Given the description of an element on the screen output the (x, y) to click on. 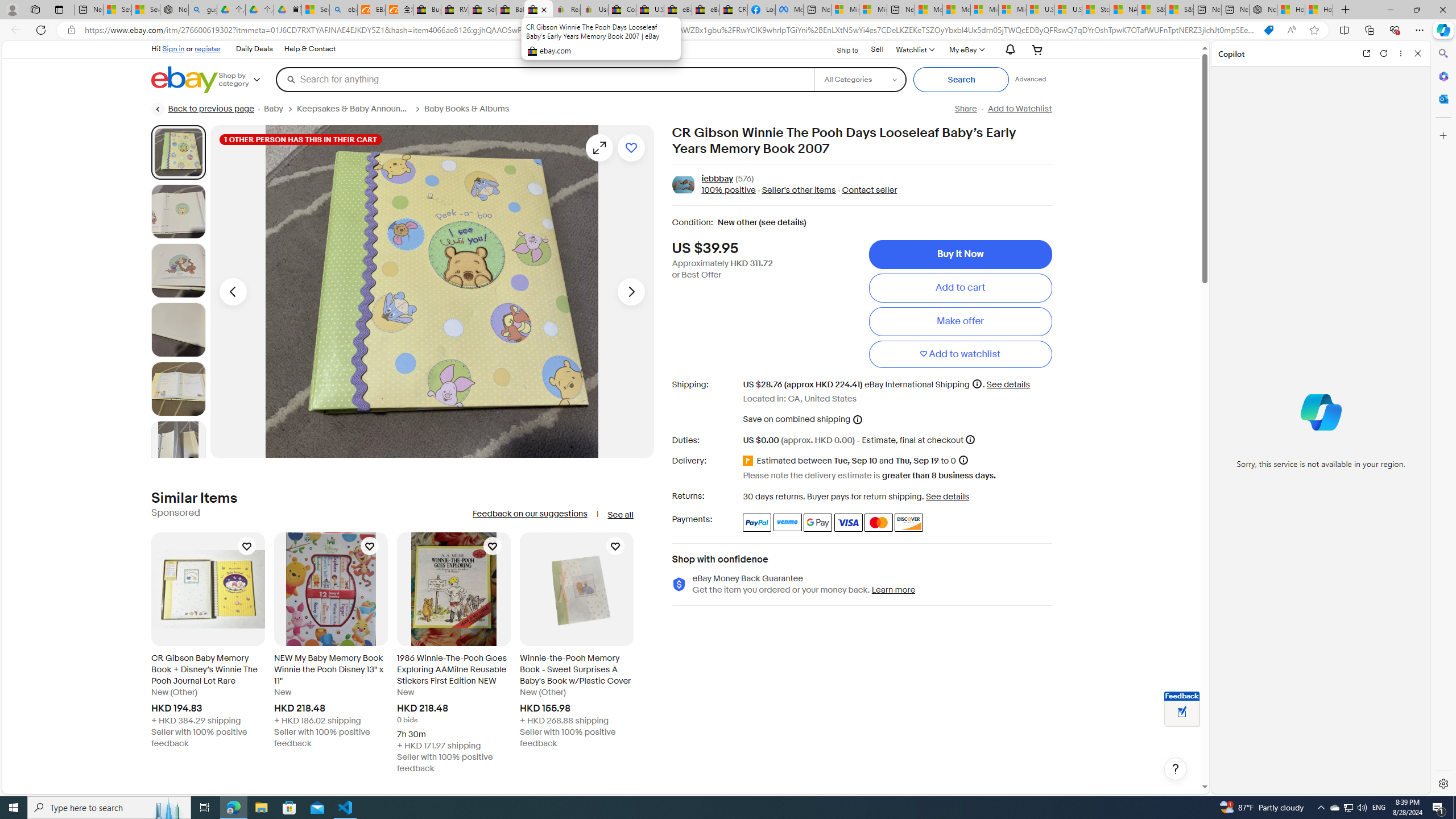
Picture 2 of 22 (178, 211)
Add to watchlist (631, 147)
Make offer (959, 320)
See all (620, 514)
Baby (273, 108)
My eBay (966, 49)
